Given the description of an element on the screen output the (x, y) to click on. 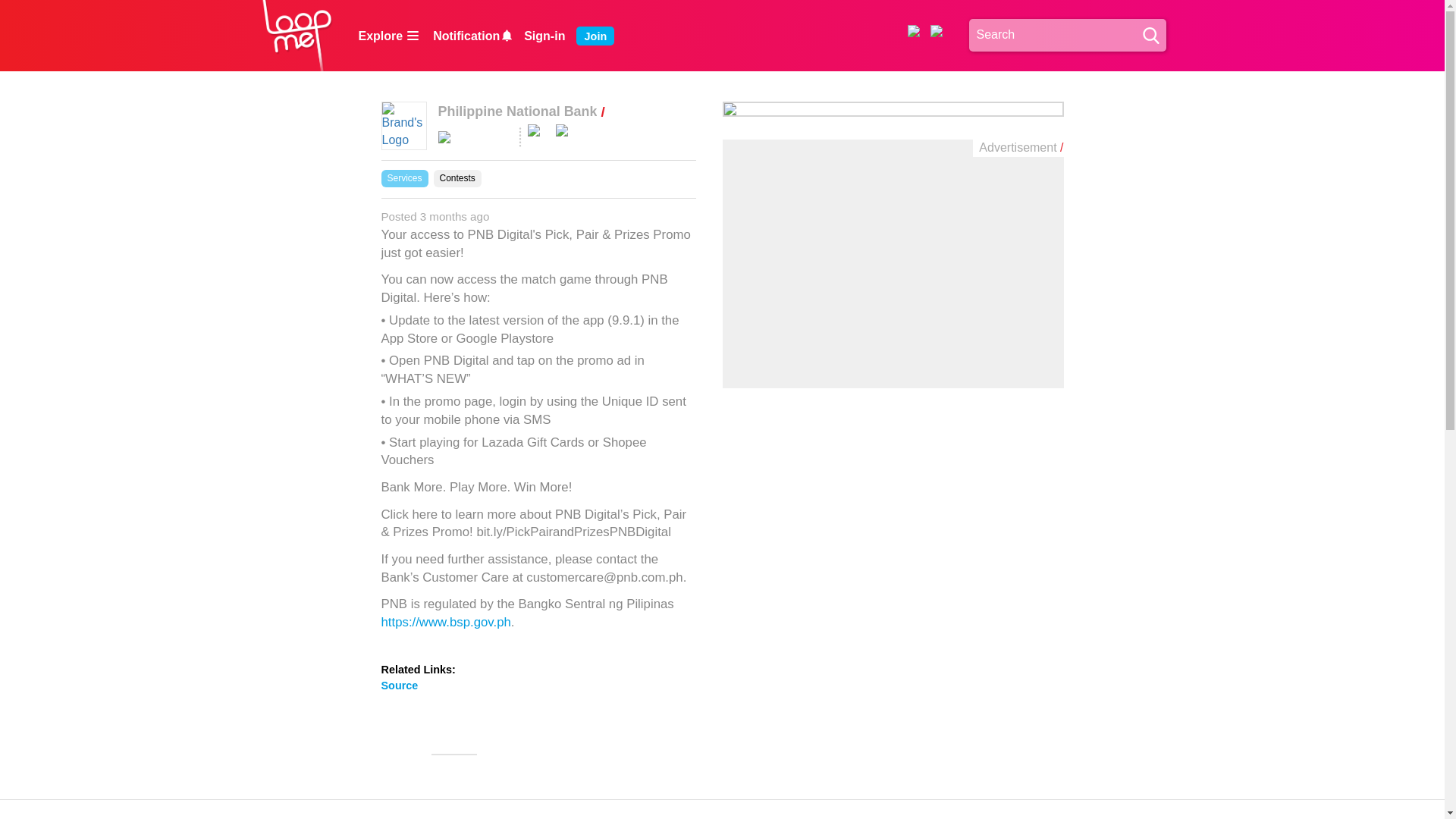
Contests (457, 178)
Source (398, 685)
Services (404, 178)
Search (1067, 34)
